Given the description of an element on the screen output the (x, y) to click on. 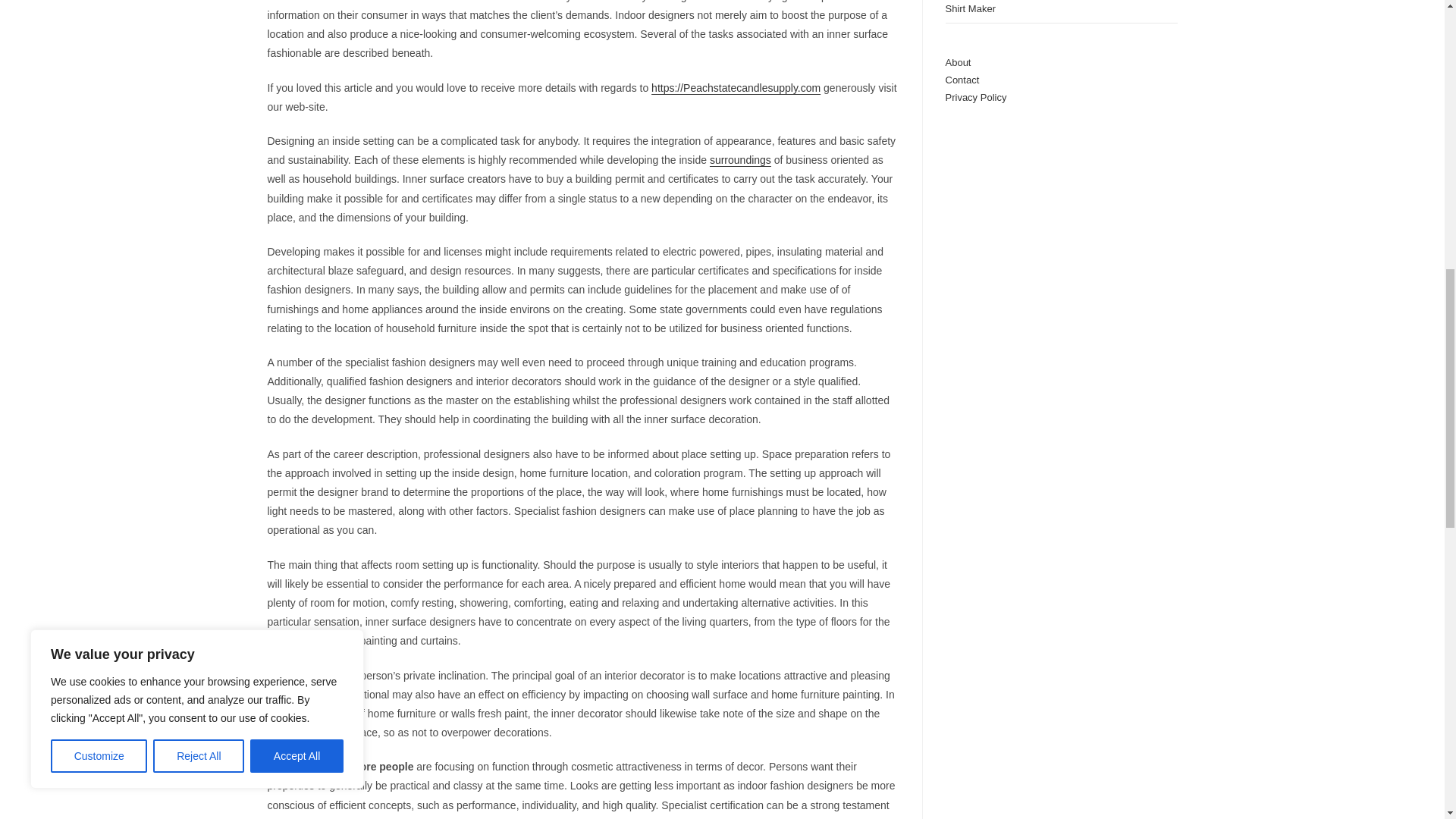
surroundings (740, 159)
